Given the description of an element on the screen output the (x, y) to click on. 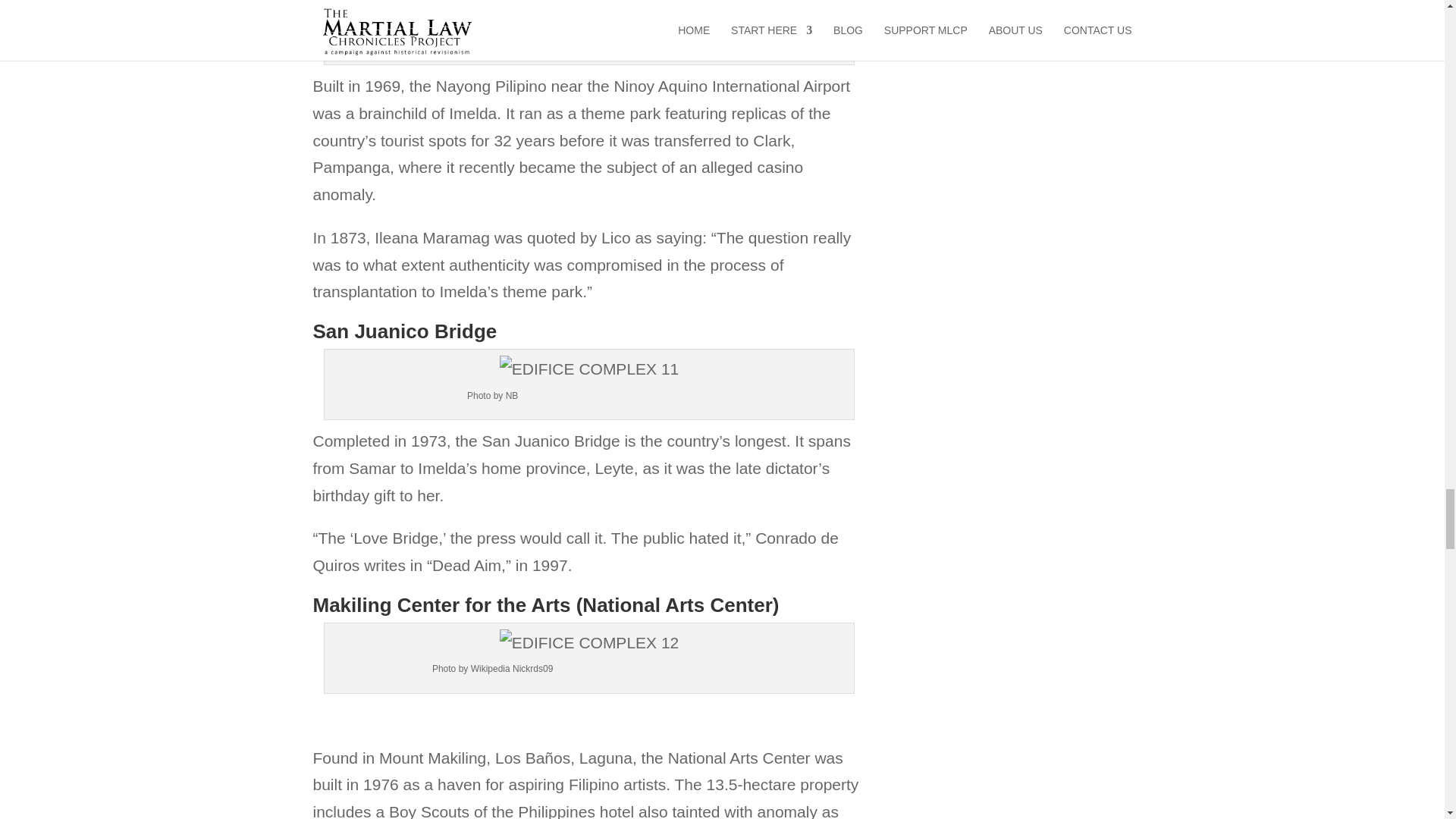
EDIFICE COMPLEX 10 (589, 13)
EDIFICE COMPLEX 11 (589, 369)
EDIFICE COMPLEX 12 (589, 642)
